Given the description of an element on the screen output the (x, y) to click on. 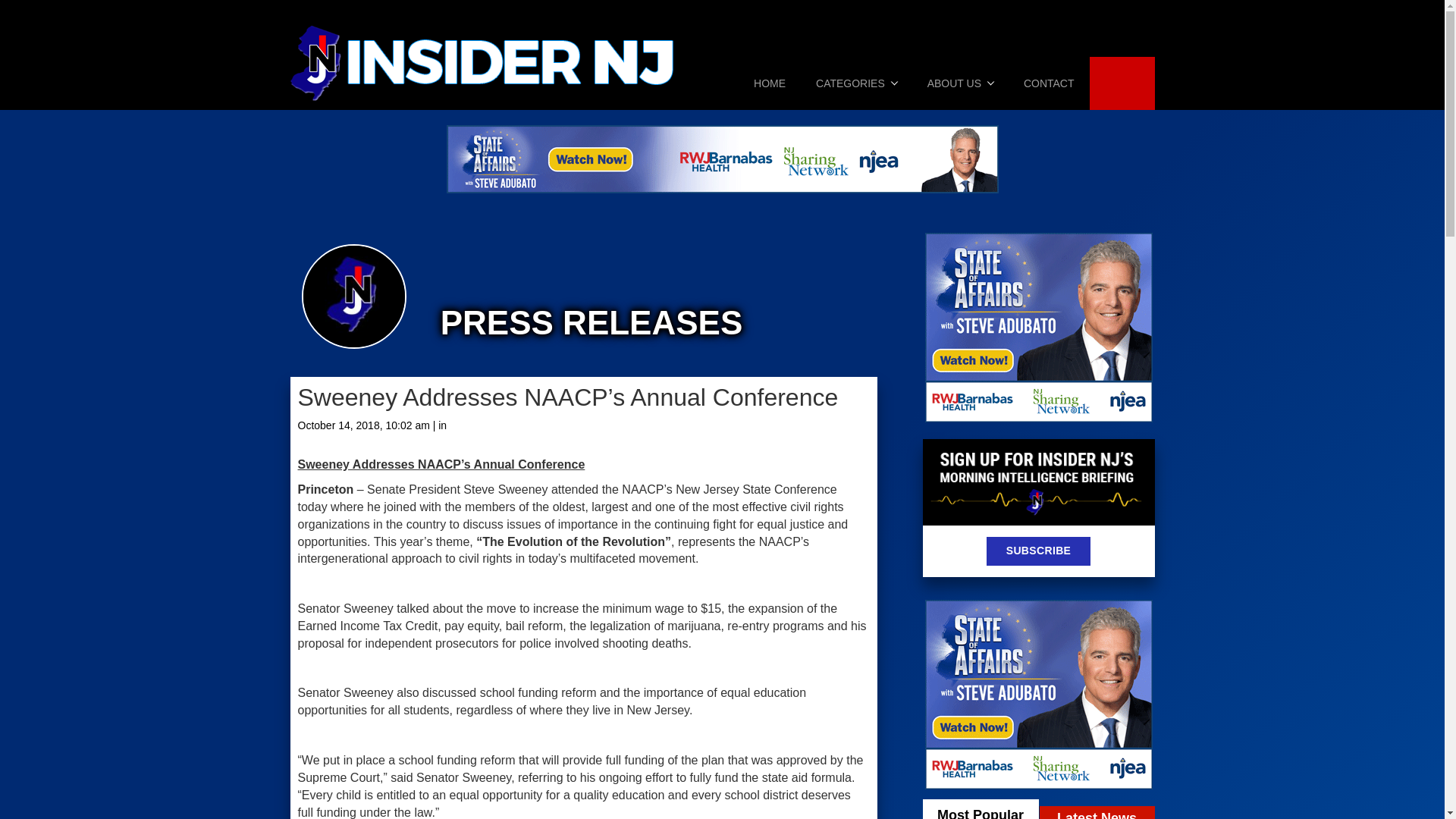
HOME (769, 82)
Contact (1049, 82)
Most Popular (979, 809)
ABOUT US (960, 82)
CATEGORIES (856, 82)
CONTACT (1049, 82)
About Us (960, 82)
Categories (856, 82)
Latest News (1096, 812)
SUBSCRIBE (1038, 551)
